Given the description of an element on the screen output the (x, y) to click on. 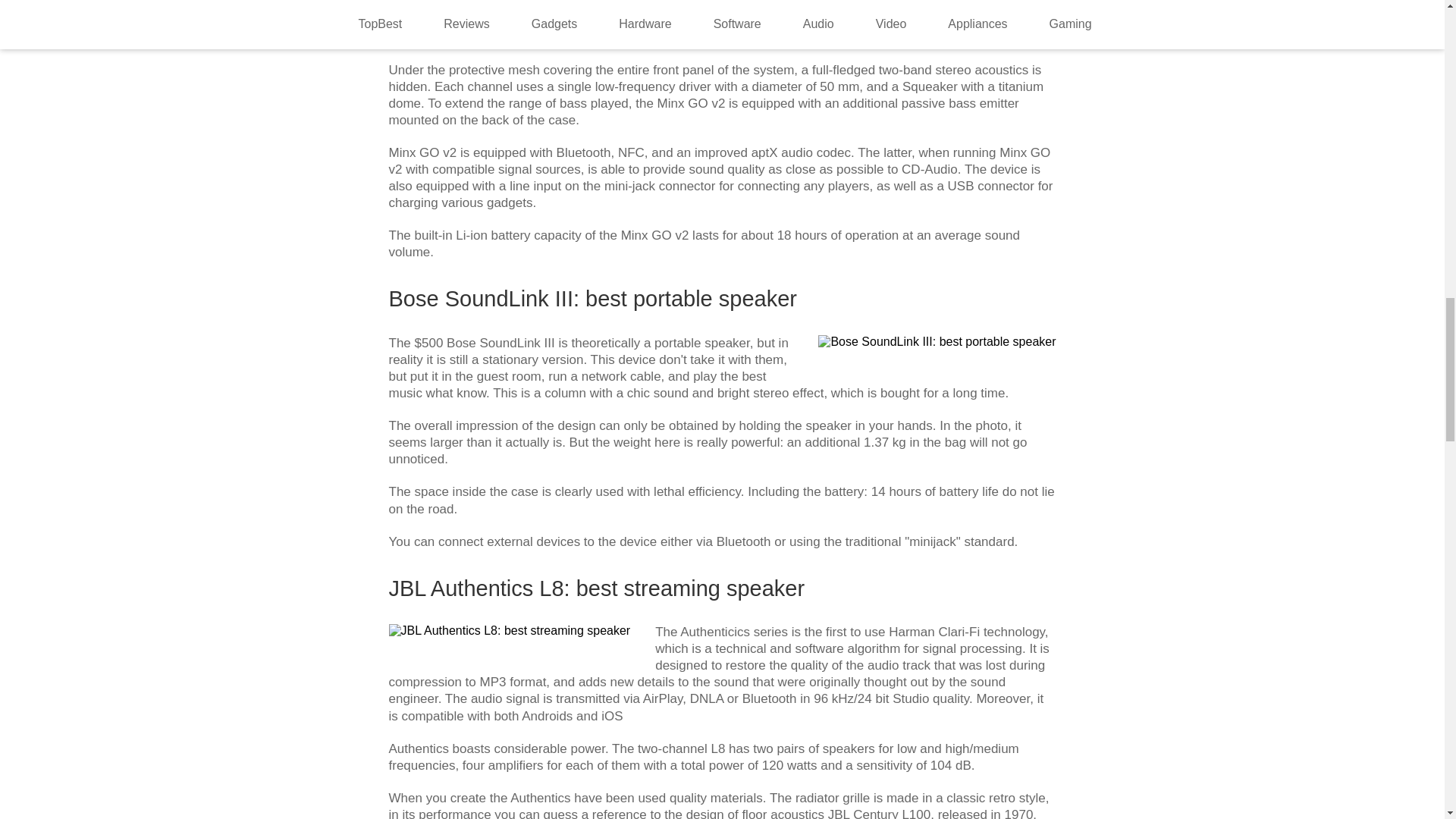
Cambridge Audio Minx GO V2: best home speaker (520, 11)
Bose SoundLink III: best portable speaker (936, 341)
JBL Authentics L8: best streaming speaker (509, 631)
